Given the description of an element on the screen output the (x, y) to click on. 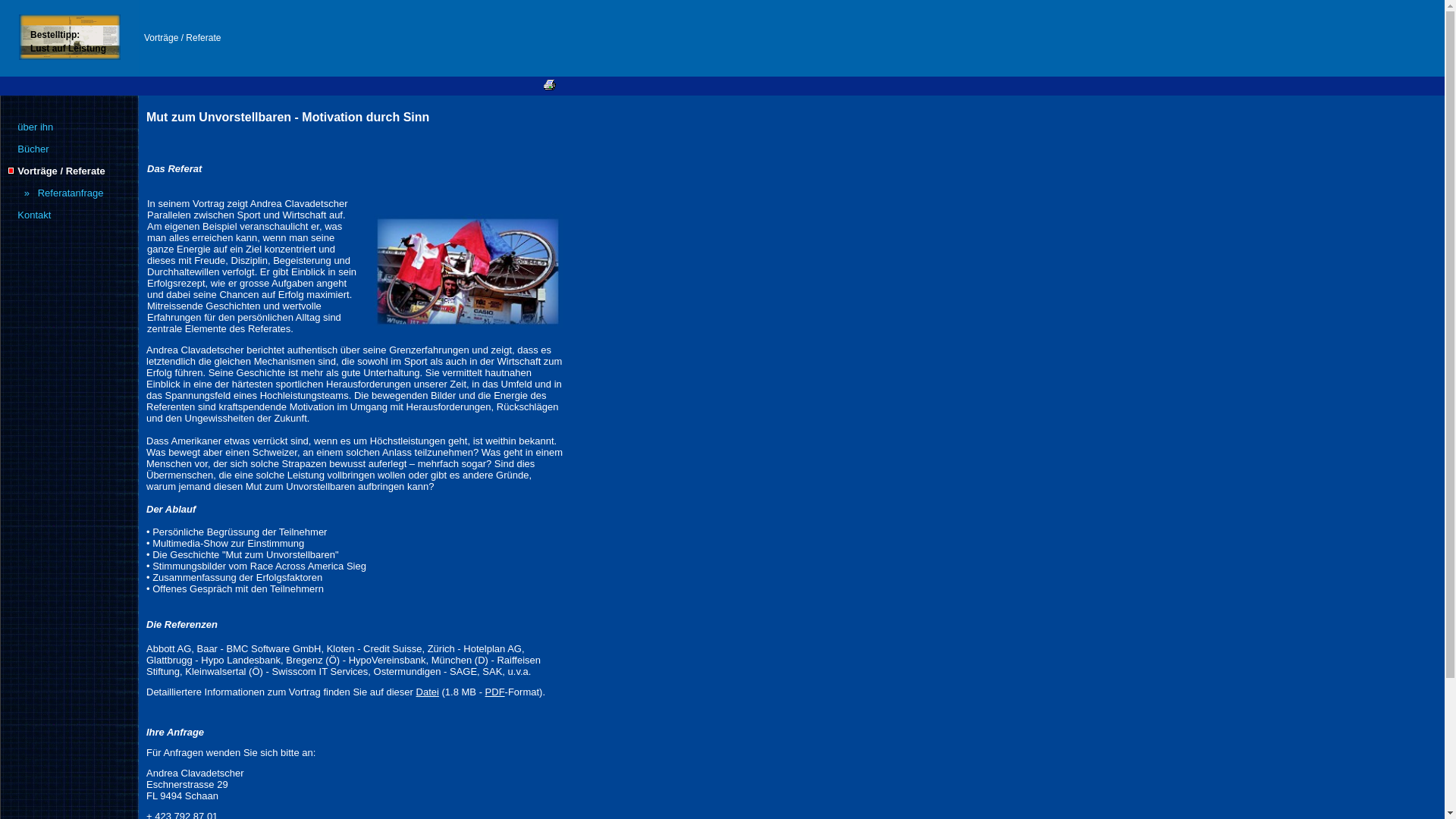
PDF Element type: text (495, 691)
Bestelltipp:
Lust auf Leistung Element type: text (68, 41)
Datei Element type: text (427, 691)
Kontakt Element type: text (33, 214)
